Given the description of an element on the screen output the (x, y) to click on. 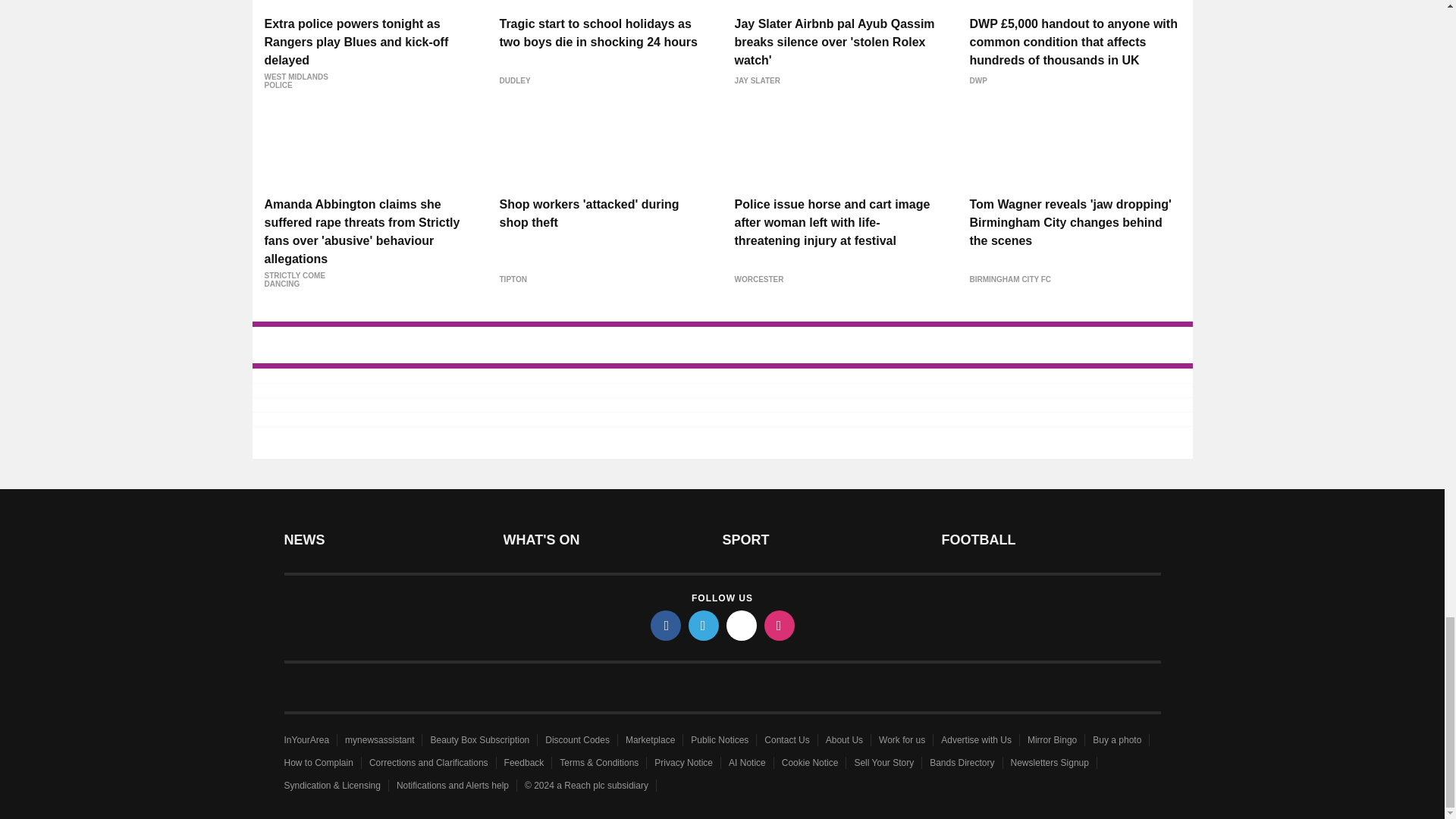
twitter (703, 625)
instagram (779, 625)
tiktok (741, 625)
facebook (665, 625)
